Given the description of an element on the screen output the (x, y) to click on. 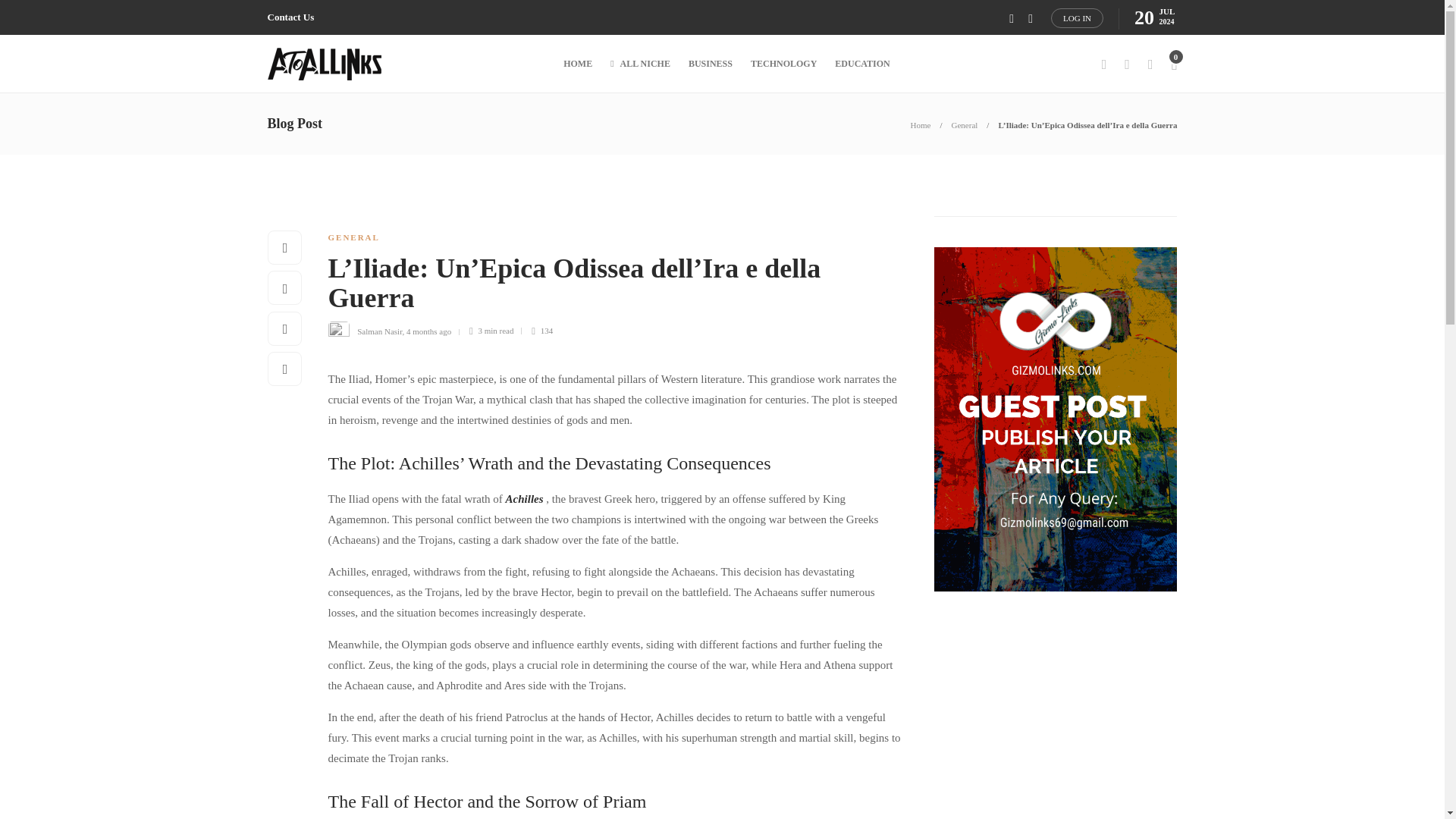
Contact Us (290, 17)
LOG IN (1077, 17)
EDUCATION (861, 63)
Home (921, 124)
Home (921, 124)
General (965, 124)
GENERAL (352, 236)
Salman Nasir (378, 329)
4 months ago (428, 329)
ALL NICHE (639, 63)
TECHNOLOGY (783, 63)
